Given the description of an element on the screen output the (x, y) to click on. 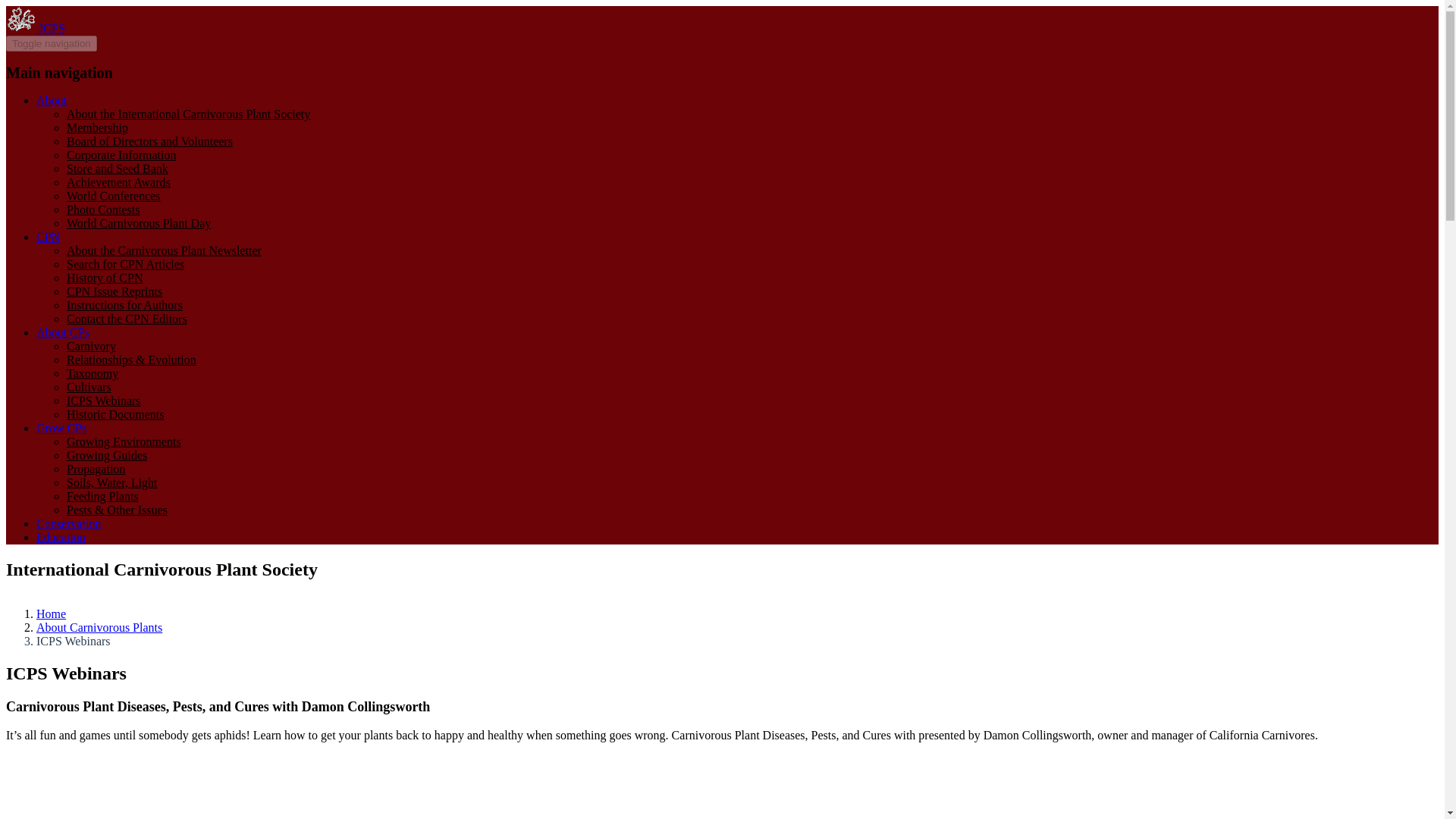
Membership (97, 127)
Feeding Plants (102, 495)
Growing Environments (123, 440)
Pests (116, 509)
Education (60, 536)
Historic Documents (114, 413)
ICPS Corporate Information (121, 154)
Propagation (95, 468)
History of CPN (104, 277)
Corporate Information (121, 154)
World Conferences (113, 195)
About CPs (62, 332)
World Carnivorous Plant Day (138, 223)
Toggle navigation (51, 43)
Growing Guides (106, 454)
